Given the description of an element on the screen output the (x, y) to click on. 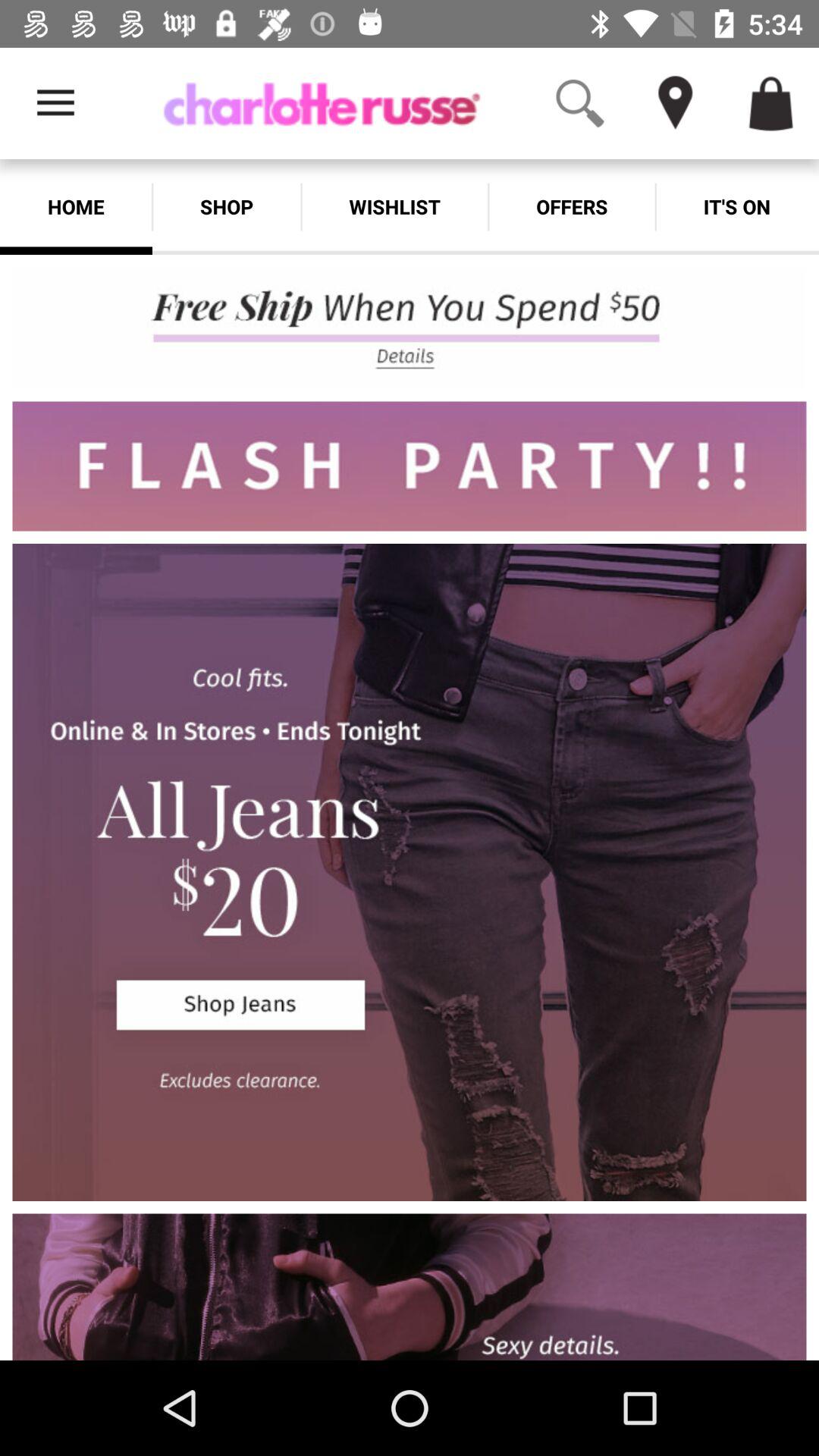
launch item to the left of the offers icon (394, 206)
